Given the description of an element on the screen output the (x, y) to click on. 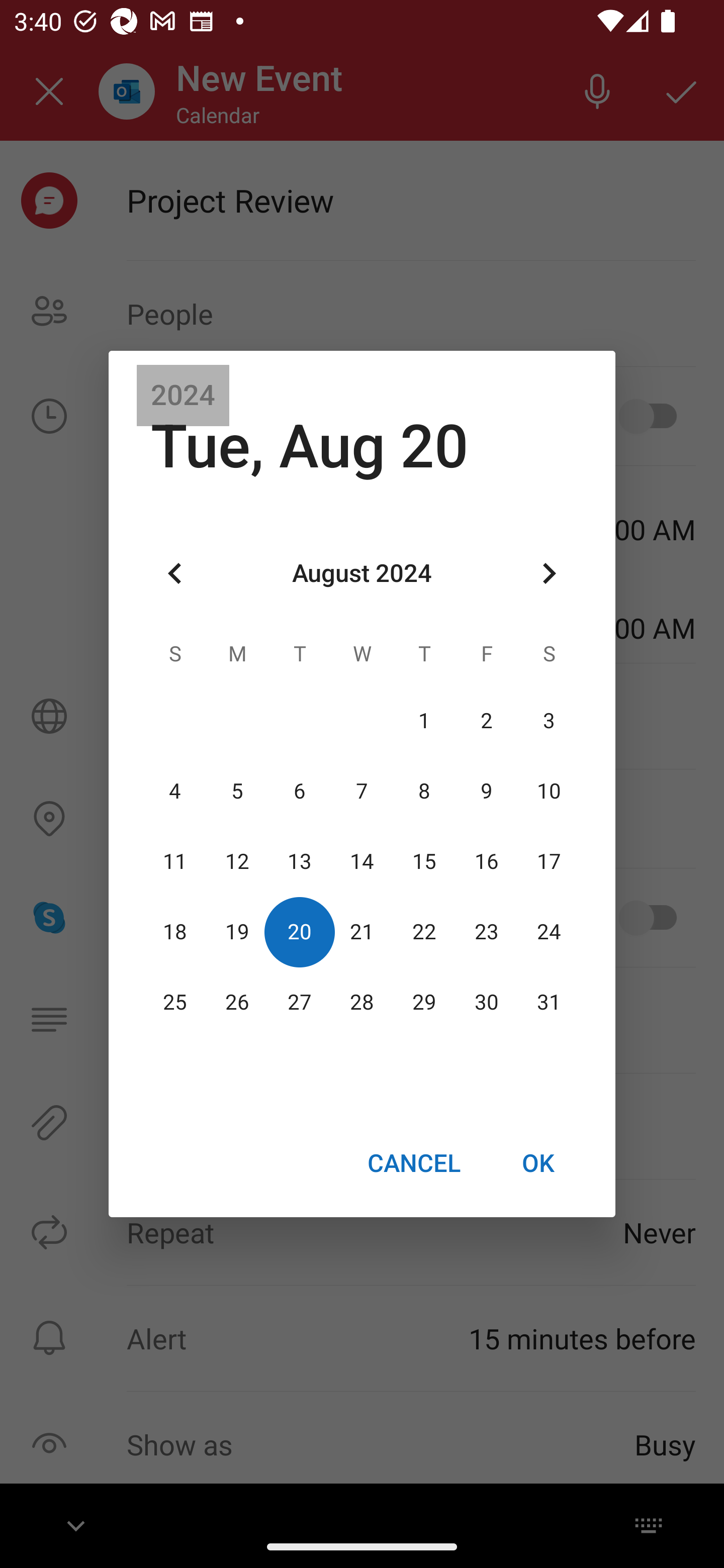
2024 (182, 395)
Tue, Aug 20 (309, 446)
Previous month (174, 573)
Next month (548, 573)
1 01 August 2024 (424, 720)
2 02 August 2024 (486, 720)
3 03 August 2024 (548, 720)
4 04 August 2024 (175, 790)
5 05 August 2024 (237, 790)
6 06 August 2024 (299, 790)
7 07 August 2024 (361, 790)
8 08 August 2024 (424, 790)
9 09 August 2024 (486, 790)
10 10 August 2024 (548, 790)
11 11 August 2024 (175, 861)
12 12 August 2024 (237, 861)
13 13 August 2024 (299, 861)
14 14 August 2024 (361, 861)
15 15 August 2024 (424, 861)
16 16 August 2024 (486, 861)
17 17 August 2024 (548, 861)
18 18 August 2024 (175, 931)
19 19 August 2024 (237, 931)
20 20 August 2024 (299, 931)
21 21 August 2024 (361, 931)
22 22 August 2024 (424, 931)
23 23 August 2024 (486, 931)
24 24 August 2024 (548, 931)
25 25 August 2024 (175, 1002)
26 26 August 2024 (237, 1002)
27 27 August 2024 (299, 1002)
28 28 August 2024 (361, 1002)
29 29 August 2024 (424, 1002)
30 30 August 2024 (486, 1002)
31 31 August 2024 (548, 1002)
CANCEL (413, 1162)
OK (537, 1162)
